Given the description of an element on the screen output the (x, y) to click on. 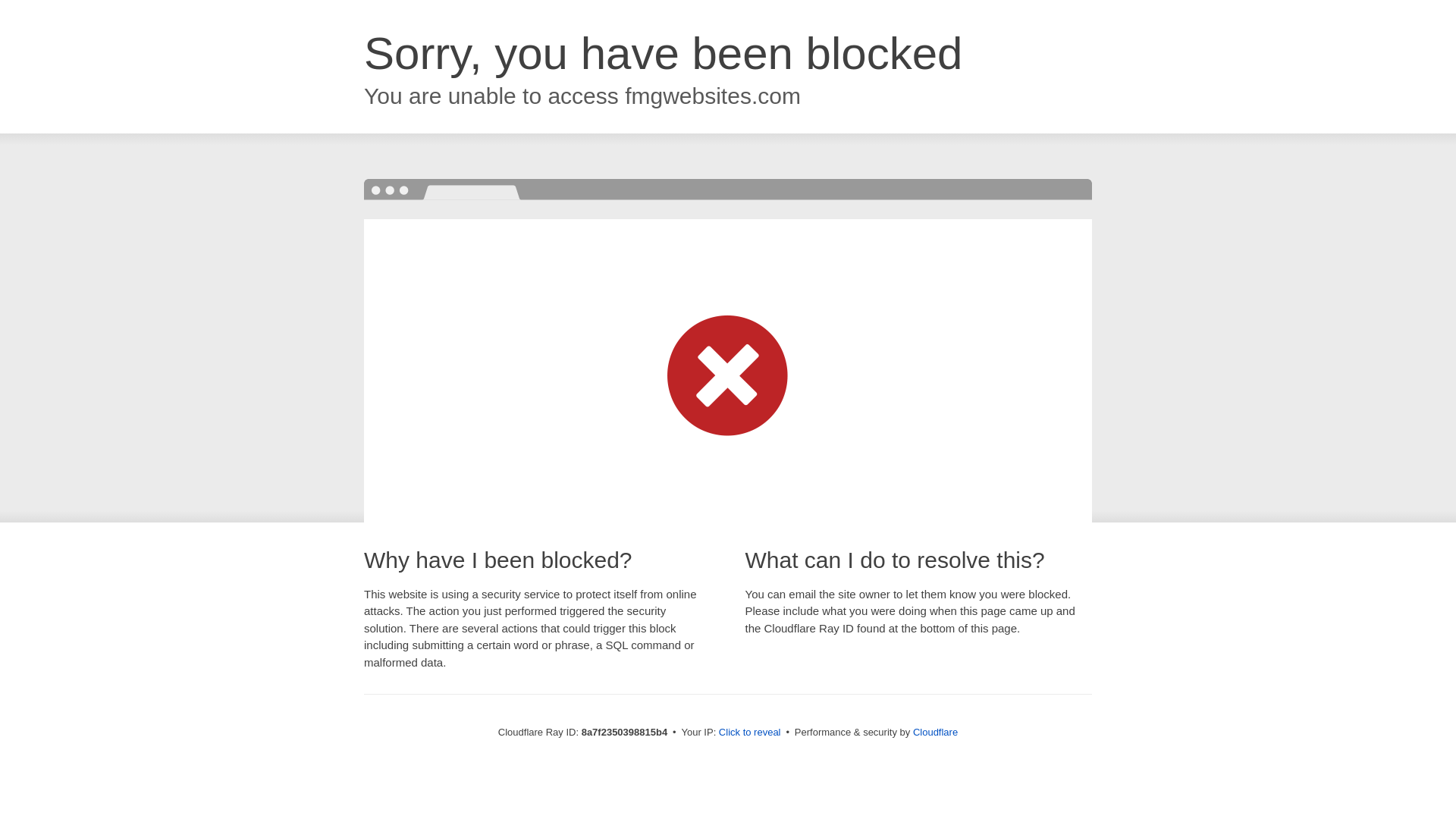
Click to reveal (749, 732)
Cloudflare (935, 731)
